Given the description of an element on the screen output the (x, y) to click on. 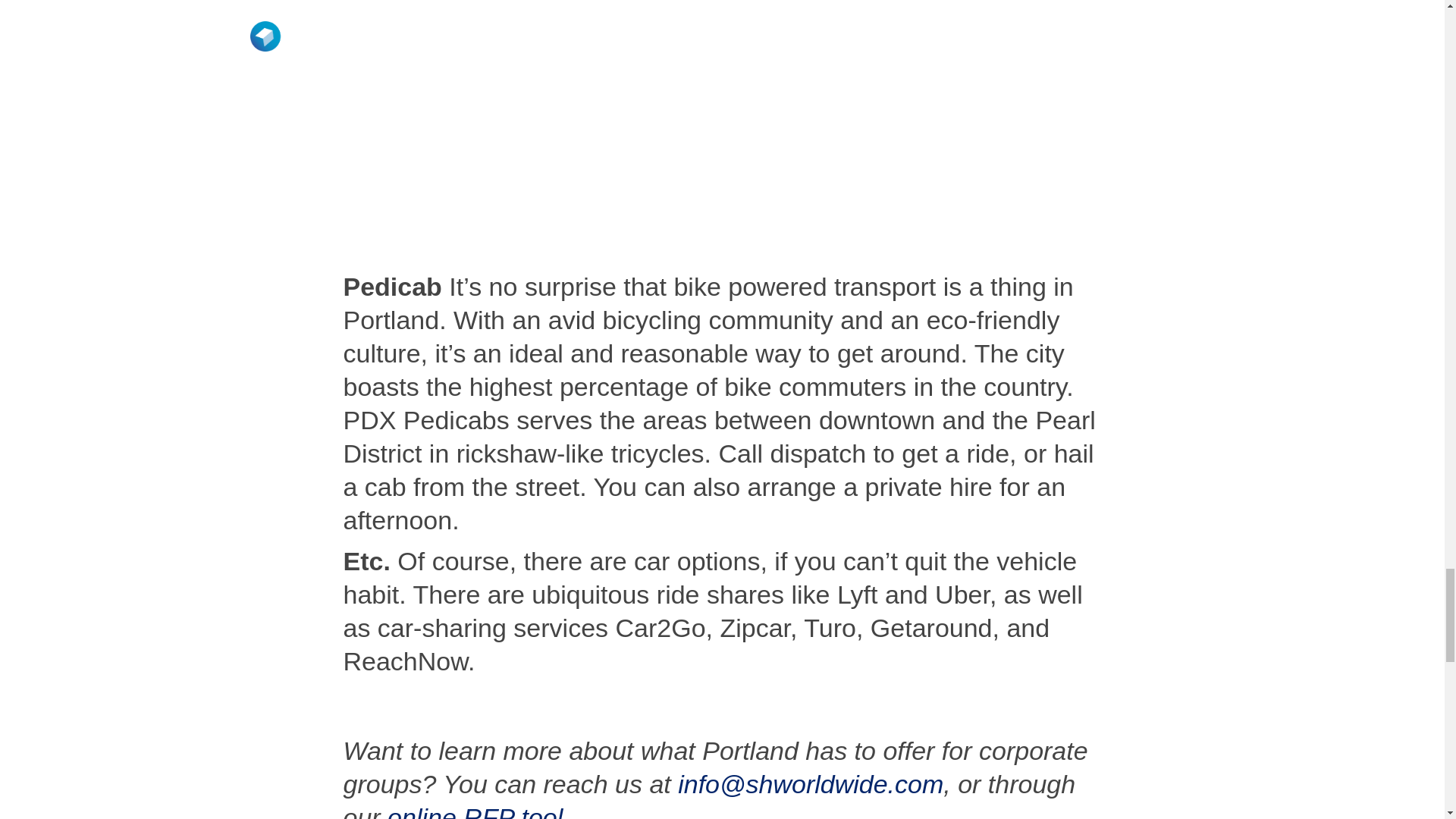
online RFP tool (474, 811)
